Given the description of an element on the screen output the (x, y) to click on. 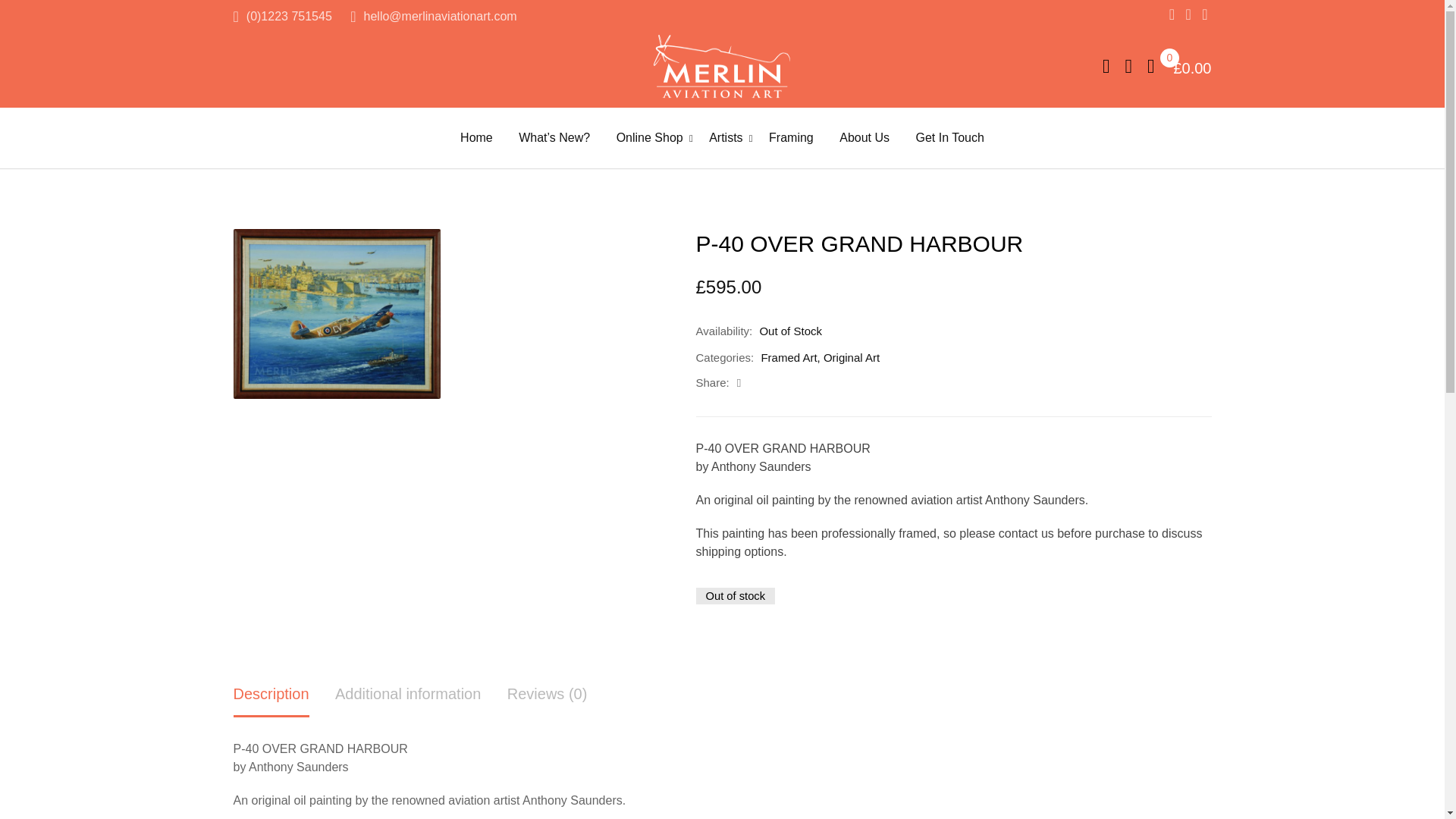
P-40 Over Grand Harbour (336, 313)
Home (475, 137)
Get In Touch (949, 137)
Framing (791, 137)
About Us (864, 137)
Artists (725, 137)
Online Shop (649, 137)
